Given the description of an element on the screen output the (x, y) to click on. 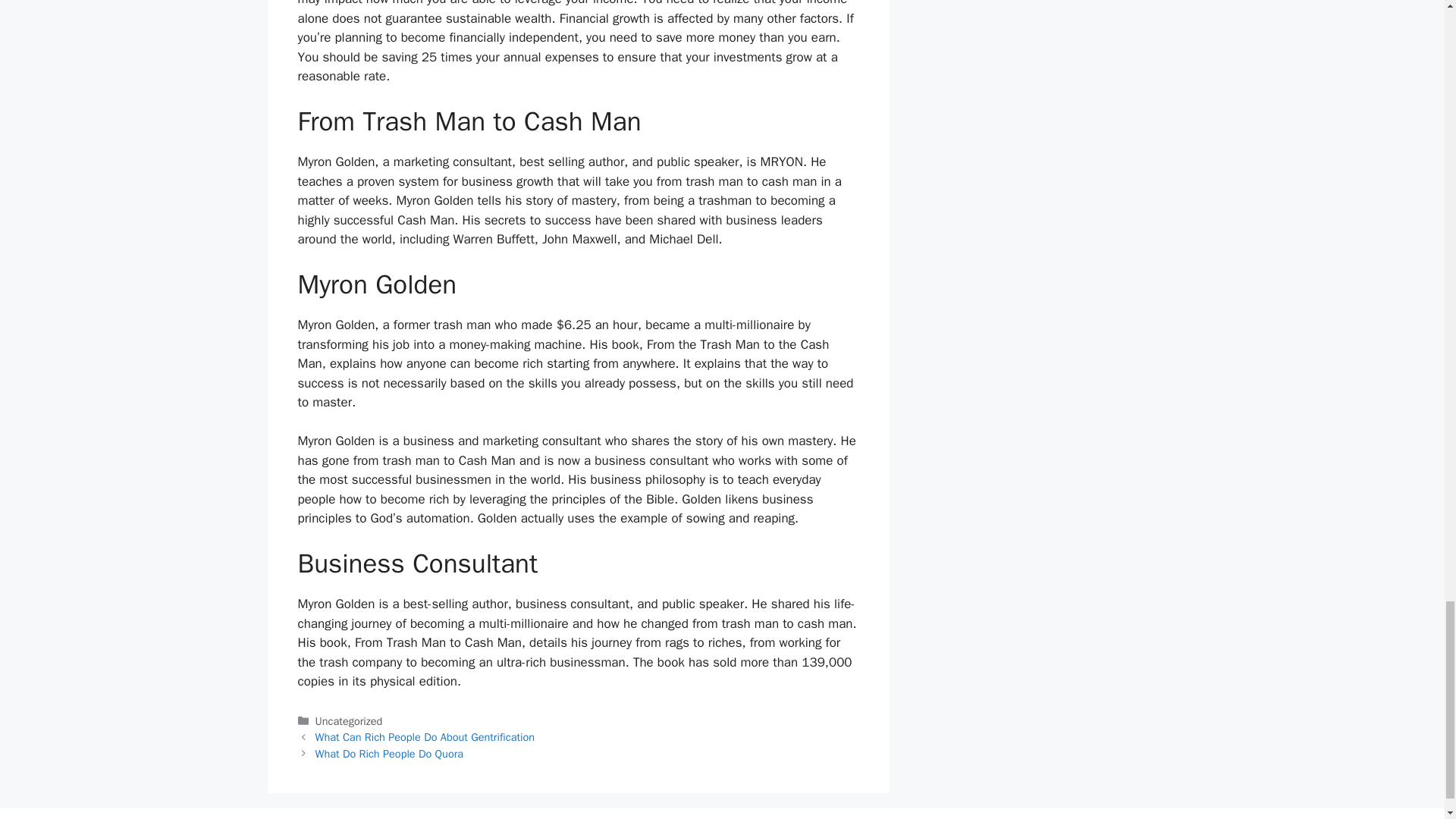
What Can Rich People Do About Gentrification (424, 736)
What Do Rich People Do Quora (389, 753)
